Given the description of an element on the screen output the (x, y) to click on. 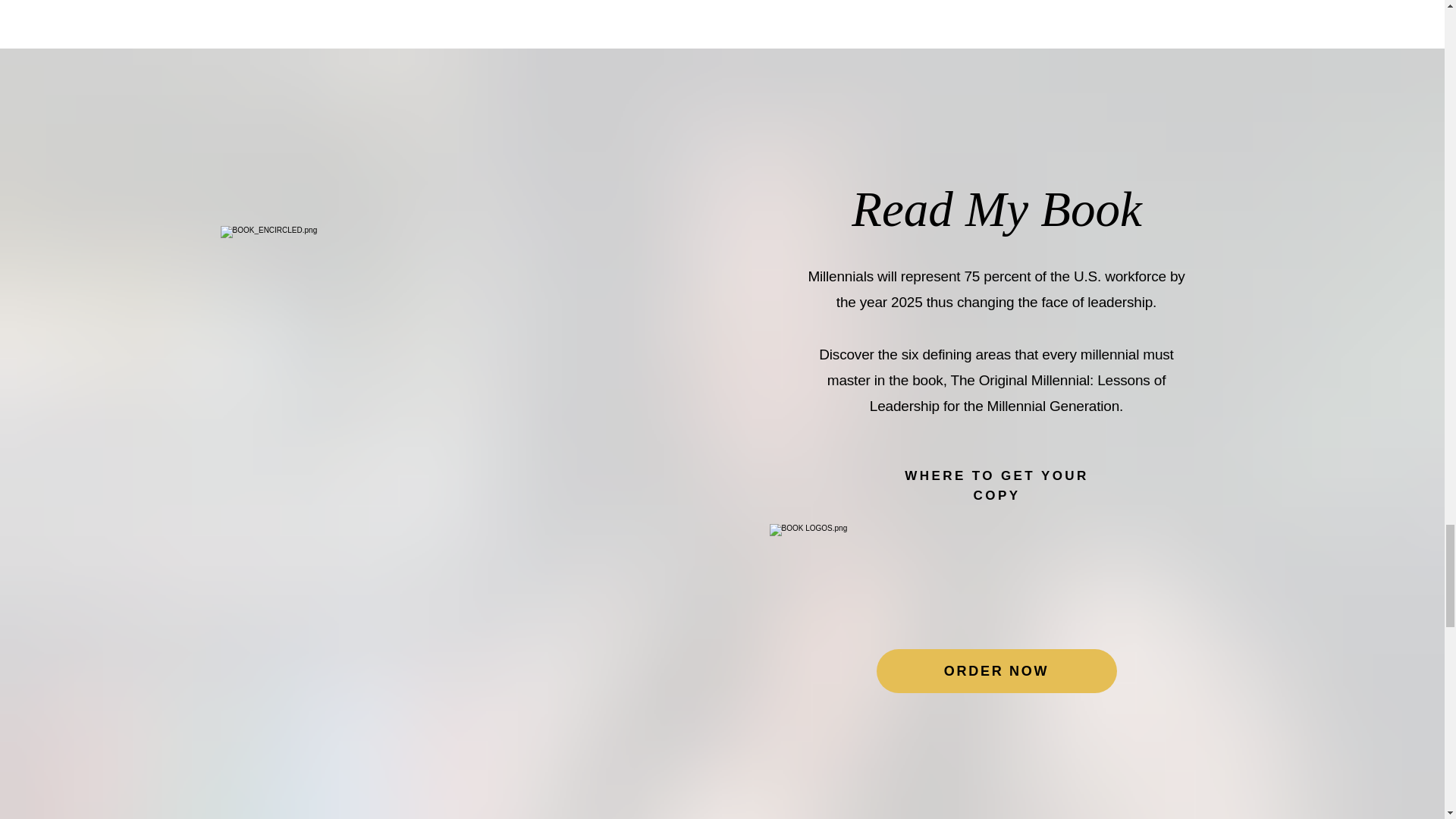
ORDER NOW (996, 670)
